Given the description of an element on the screen output the (x, y) to click on. 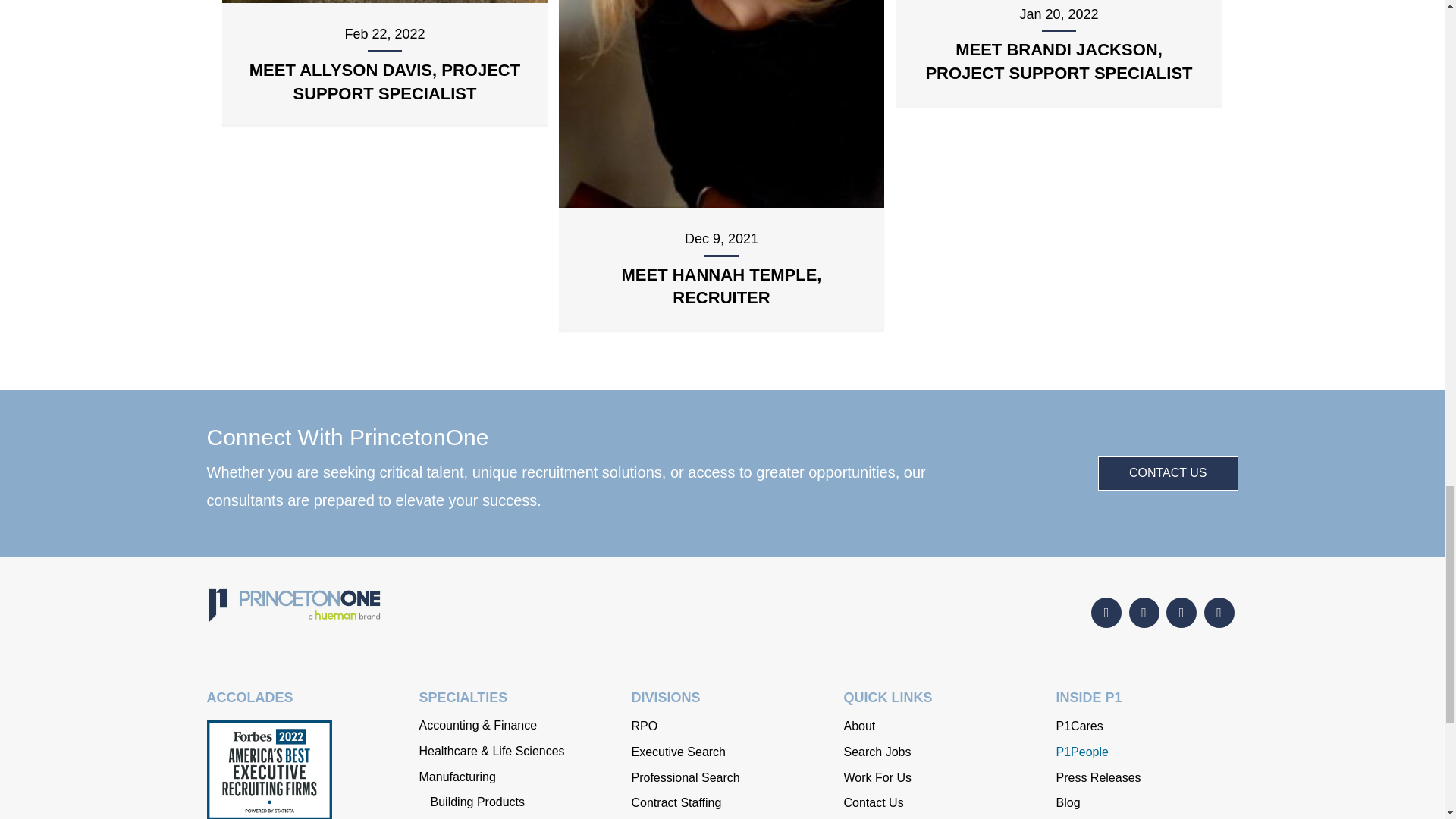
Meet Brandi Jackson, Project Support Specialist (1058, 61)
Meet Hannah Temple, Recruiter (721, 286)
Meet Allyson Davis, Project Support Specialist (383, 81)
